Given the description of an element on the screen output the (x, y) to click on. 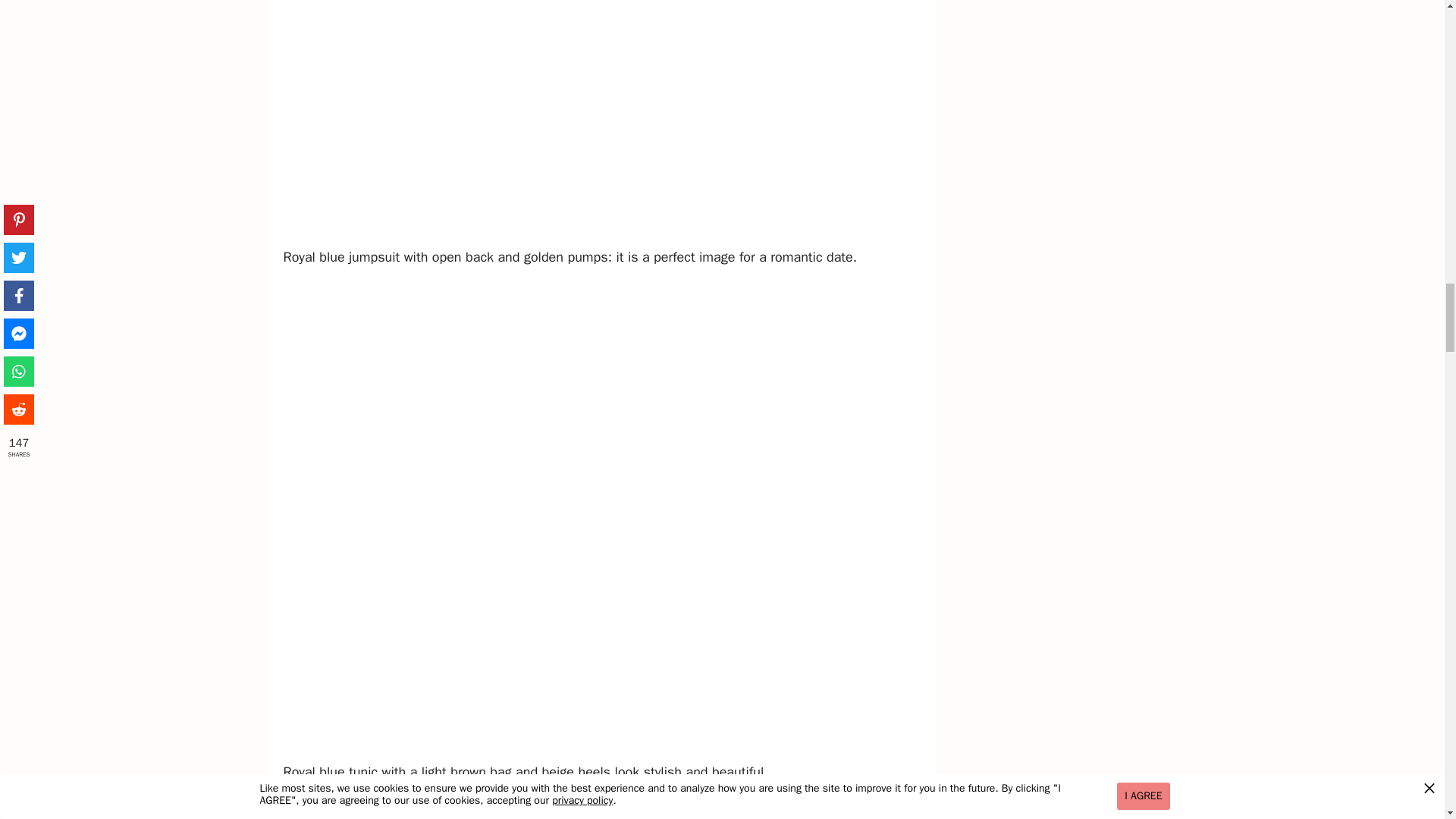
outfit with royal blue tunic photo (604, 807)
